Given the description of an element on the screen output the (x, y) to click on. 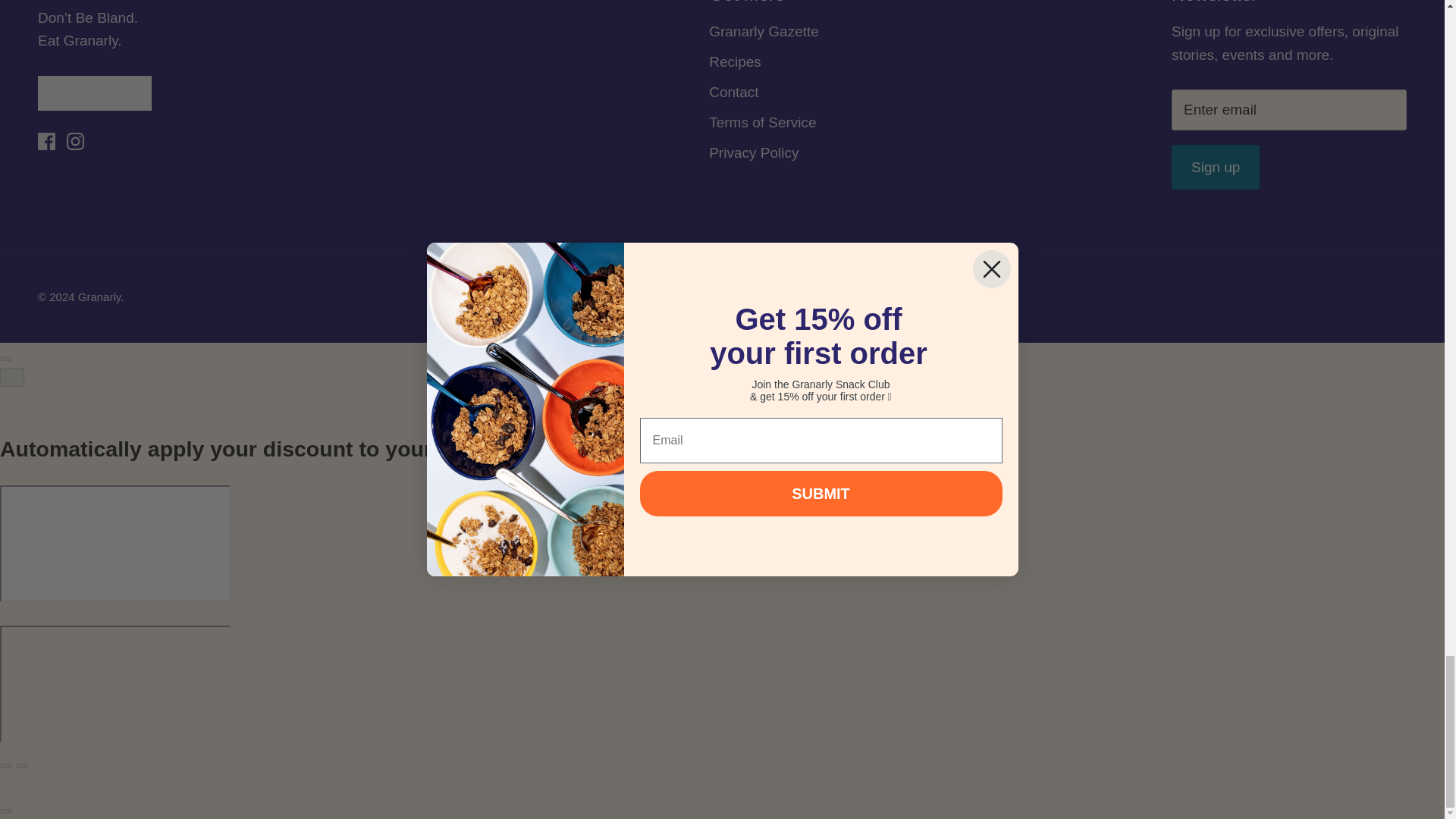
Instagram (75, 140)
Facebook (46, 140)
